Given the description of an element on the screen output the (x, y) to click on. 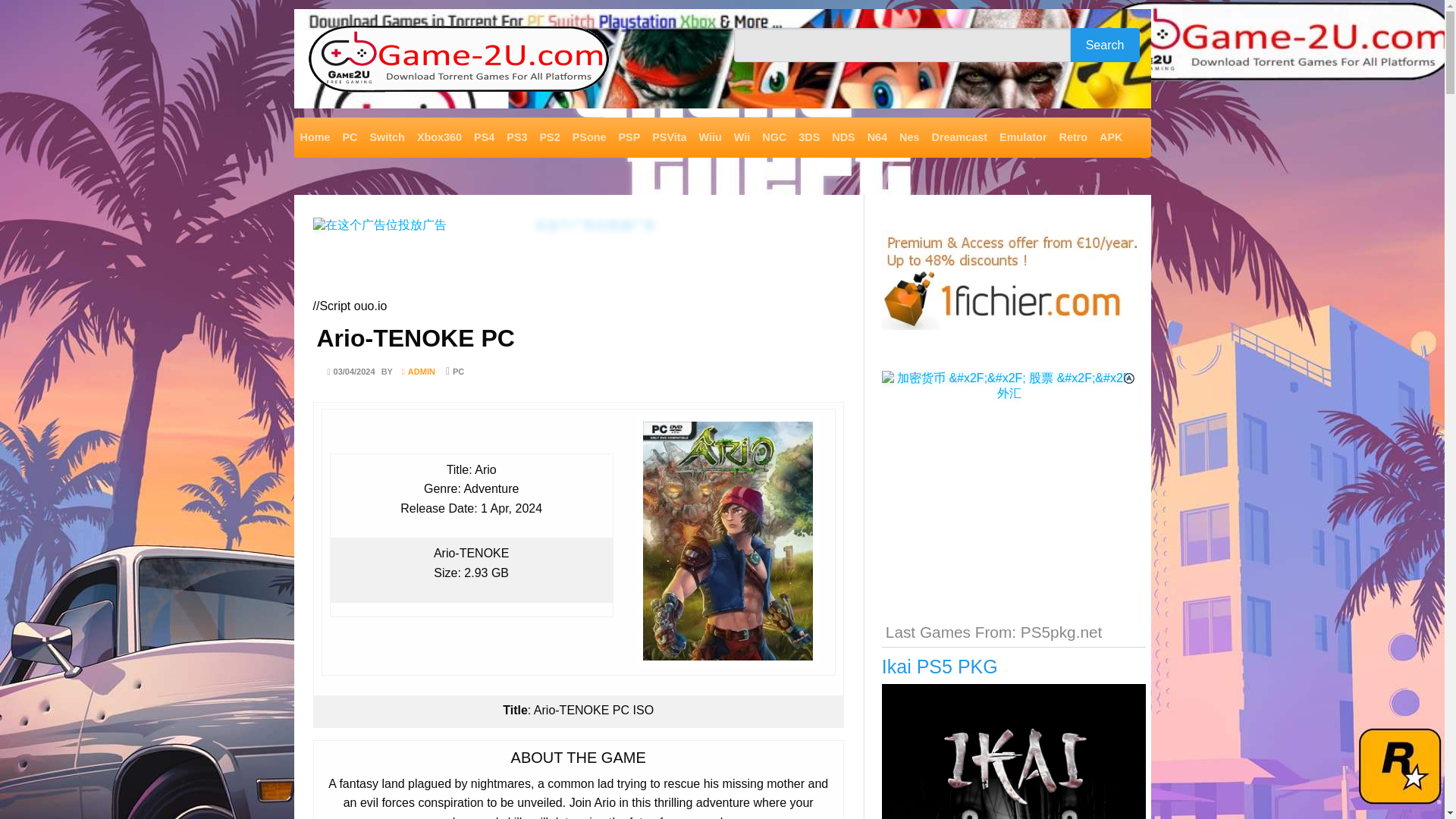
Switch (386, 137)
NGC (773, 137)
Dreamcast (958, 137)
PSone (589, 137)
Search (1105, 44)
Game-2u.com (356, 105)
Search (196, 151)
Retro (1072, 137)
Search (1105, 44)
Home (315, 137)
PSVita (669, 137)
Emulator (1022, 137)
Xbox360 (438, 137)
